Given the description of an element on the screen output the (x, y) to click on. 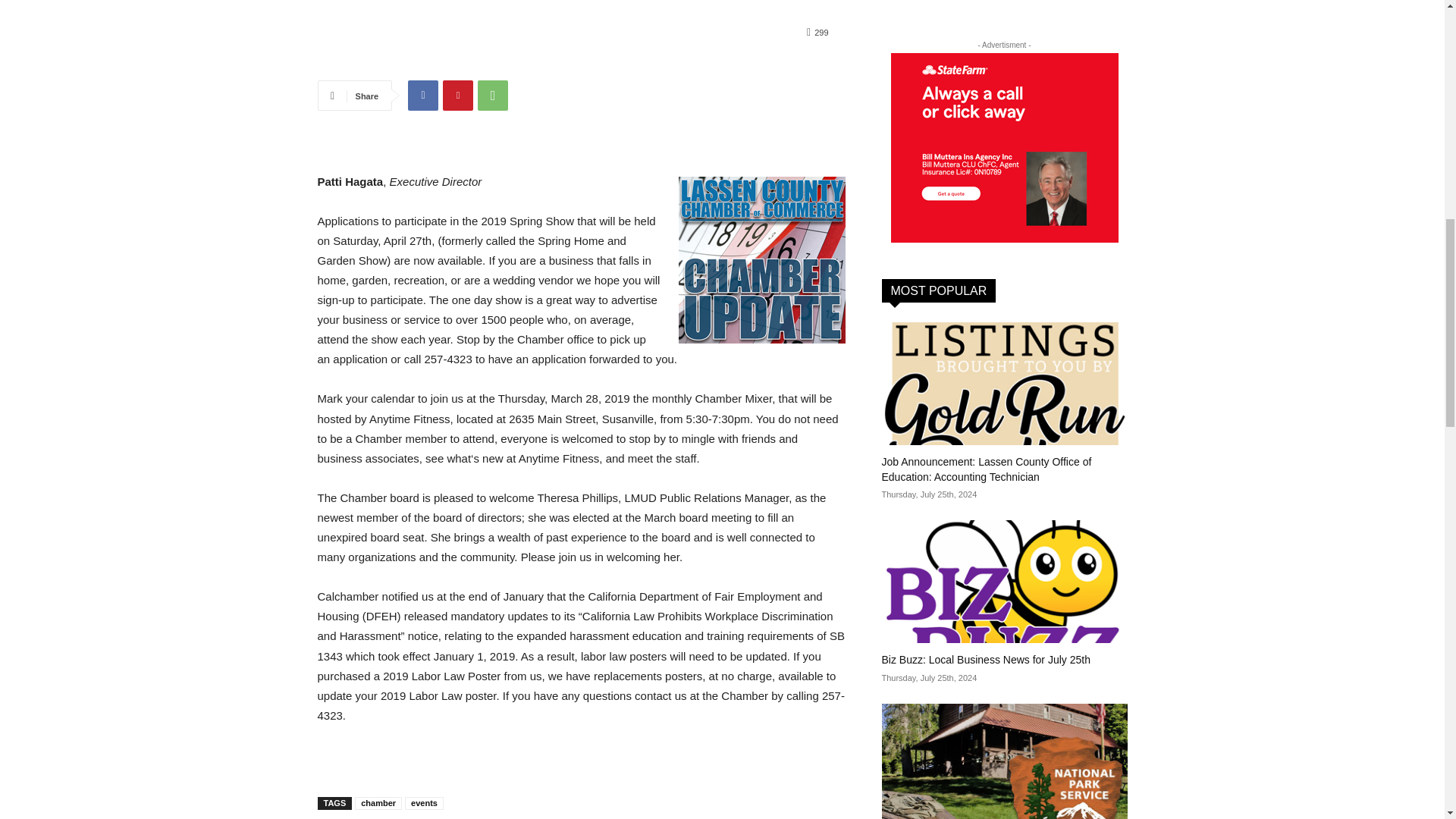
WhatsApp (492, 95)
Facebook (422, 95)
Pinterest (457, 95)
